Given the description of an element on the screen output the (x, y) to click on. 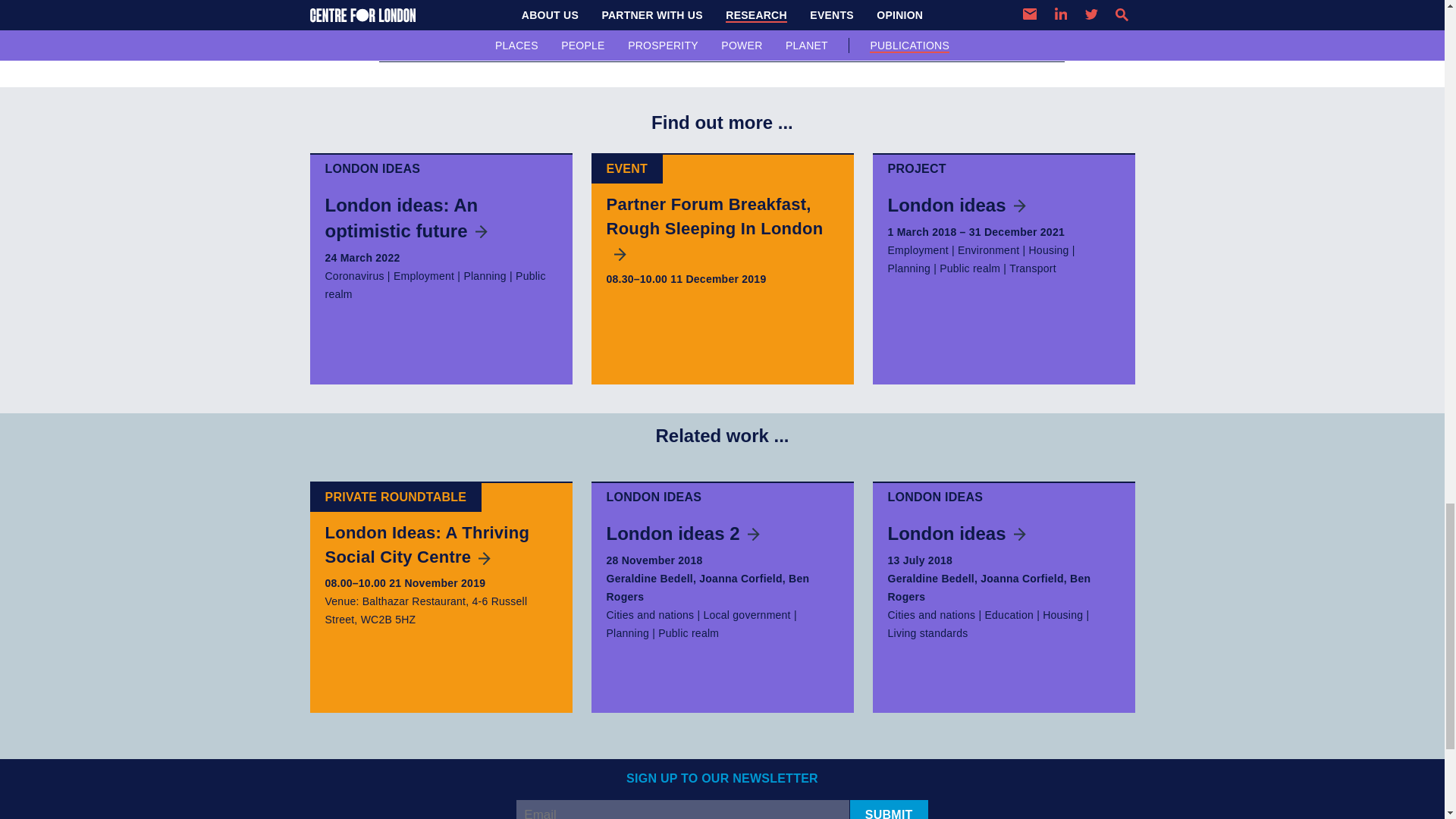
Submit (889, 809)
Search for content tagged as Transport (1033, 268)
Search for content tagged as Planning (908, 268)
Search for content tagged as Employment (423, 275)
Search for content tagged as Coronavirus (354, 275)
Search for content tagged as Public realm (434, 285)
Search for content tagged as Housing (1047, 250)
Search for content tagged as Cities and nations (650, 614)
Search for content tagged as Employment (916, 250)
Search for content tagged as Local government (746, 614)
Search for content tagged as Environment (988, 250)
Search for content tagged as Planning (484, 275)
Search for content tagged as Public realm (969, 268)
